Given the description of an element on the screen output the (x, y) to click on. 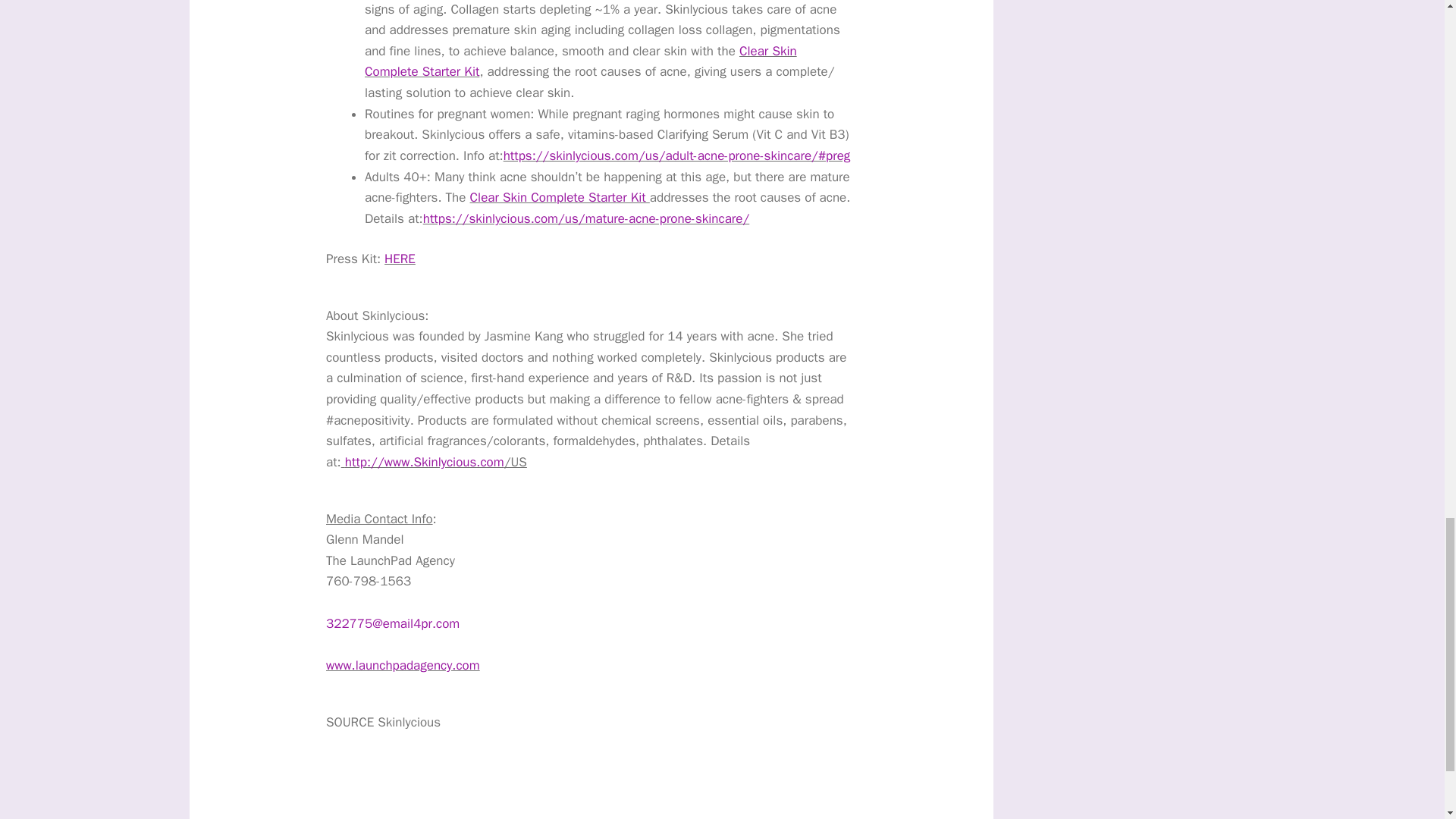
Clear Skin Complete Starter Kit (559, 197)
HERE (399, 258)
www.launchpadagency.com (403, 665)
Clear Skin Complete Starter Kit (580, 61)
